Given the description of an element on the screen output the (x, y) to click on. 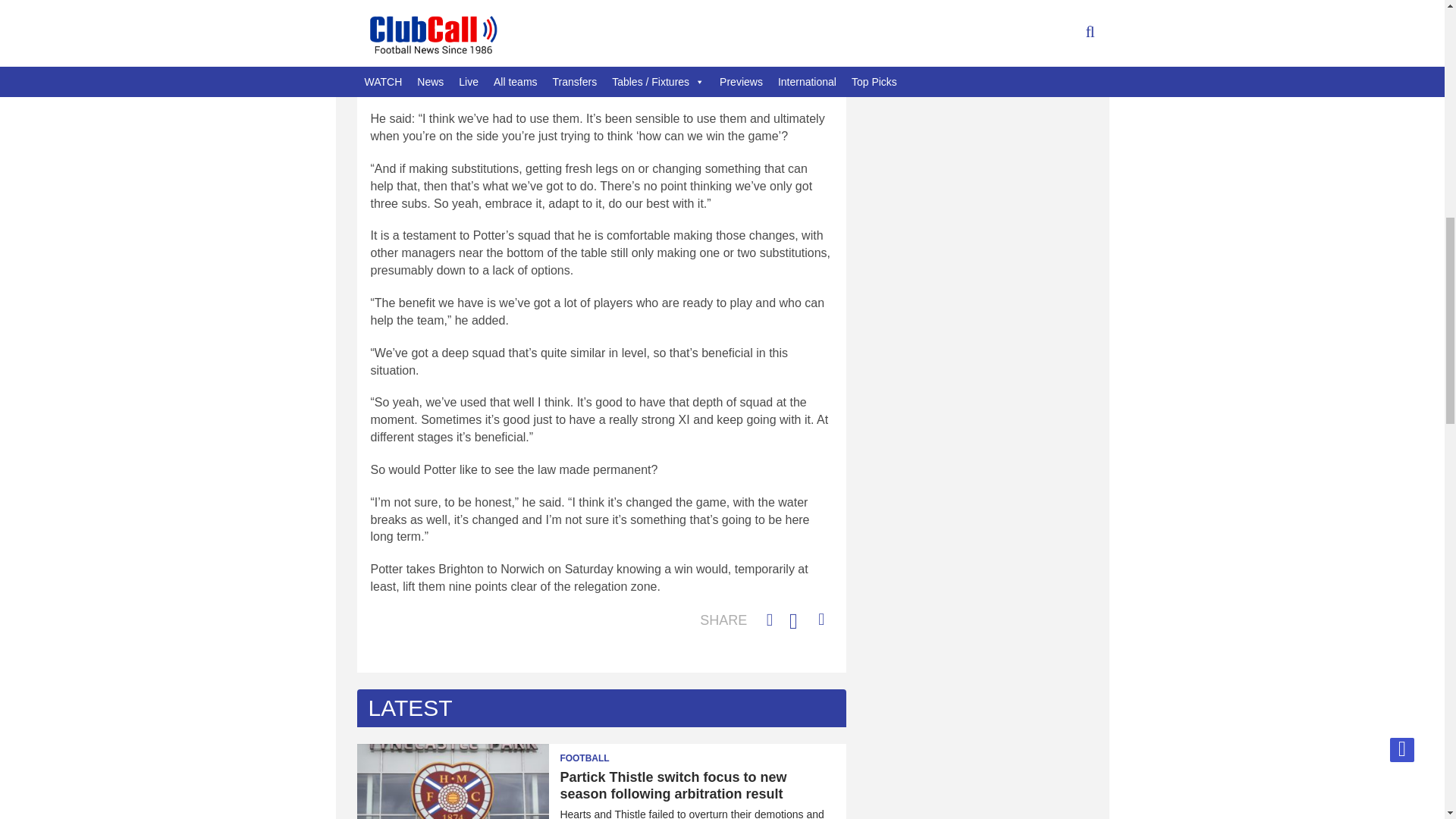
Football (593, 753)
FOOTBALL (593, 753)
